Given the description of an element on the screen output the (x, y) to click on. 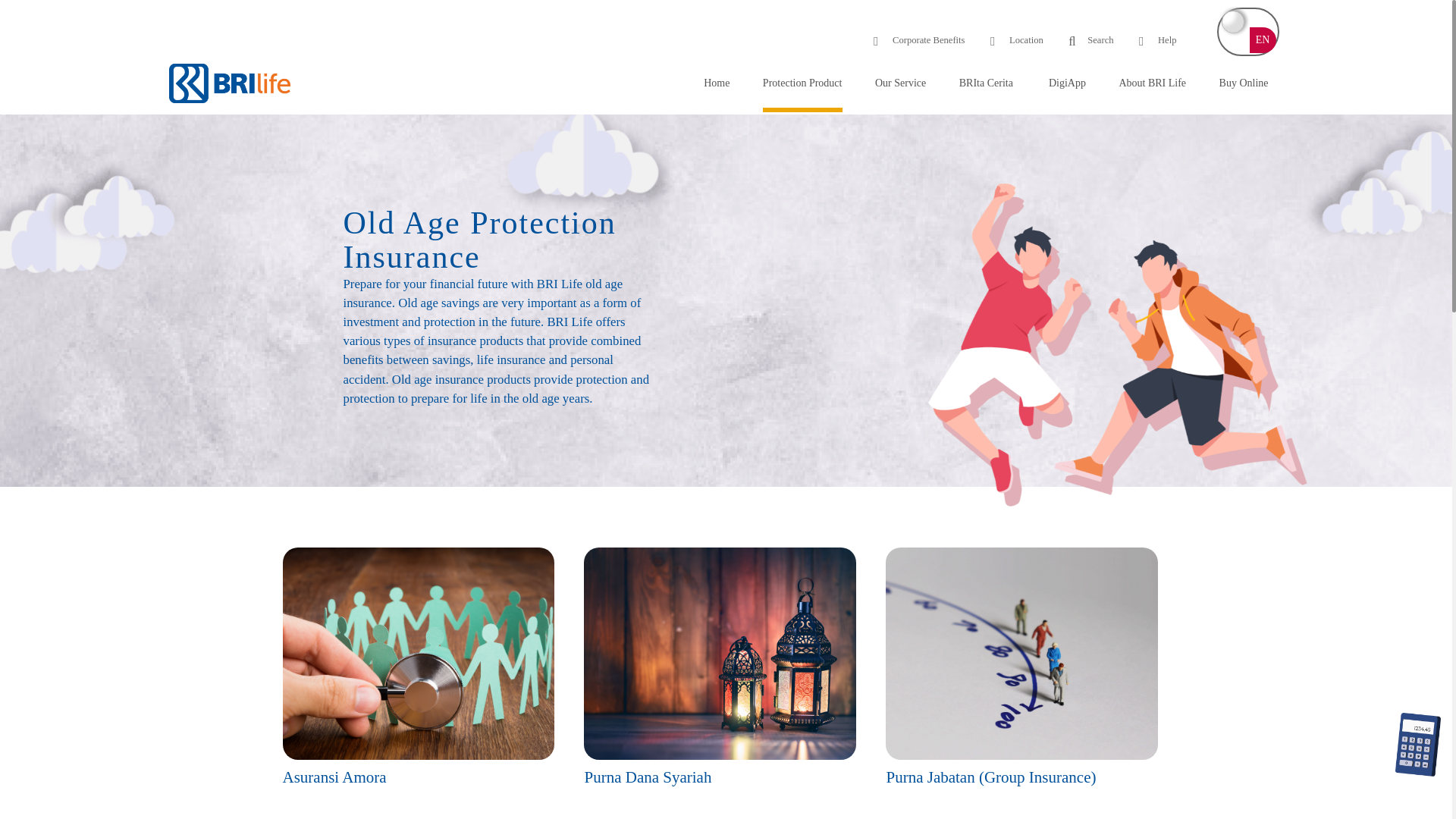
Help (1157, 40)
Location (1016, 40)
Corporate Benefits (918, 40)
Home (716, 87)
Search (1090, 40)
IND (1232, 21)
Protection Product (802, 87)
